Given the description of an element on the screen output the (x, y) to click on. 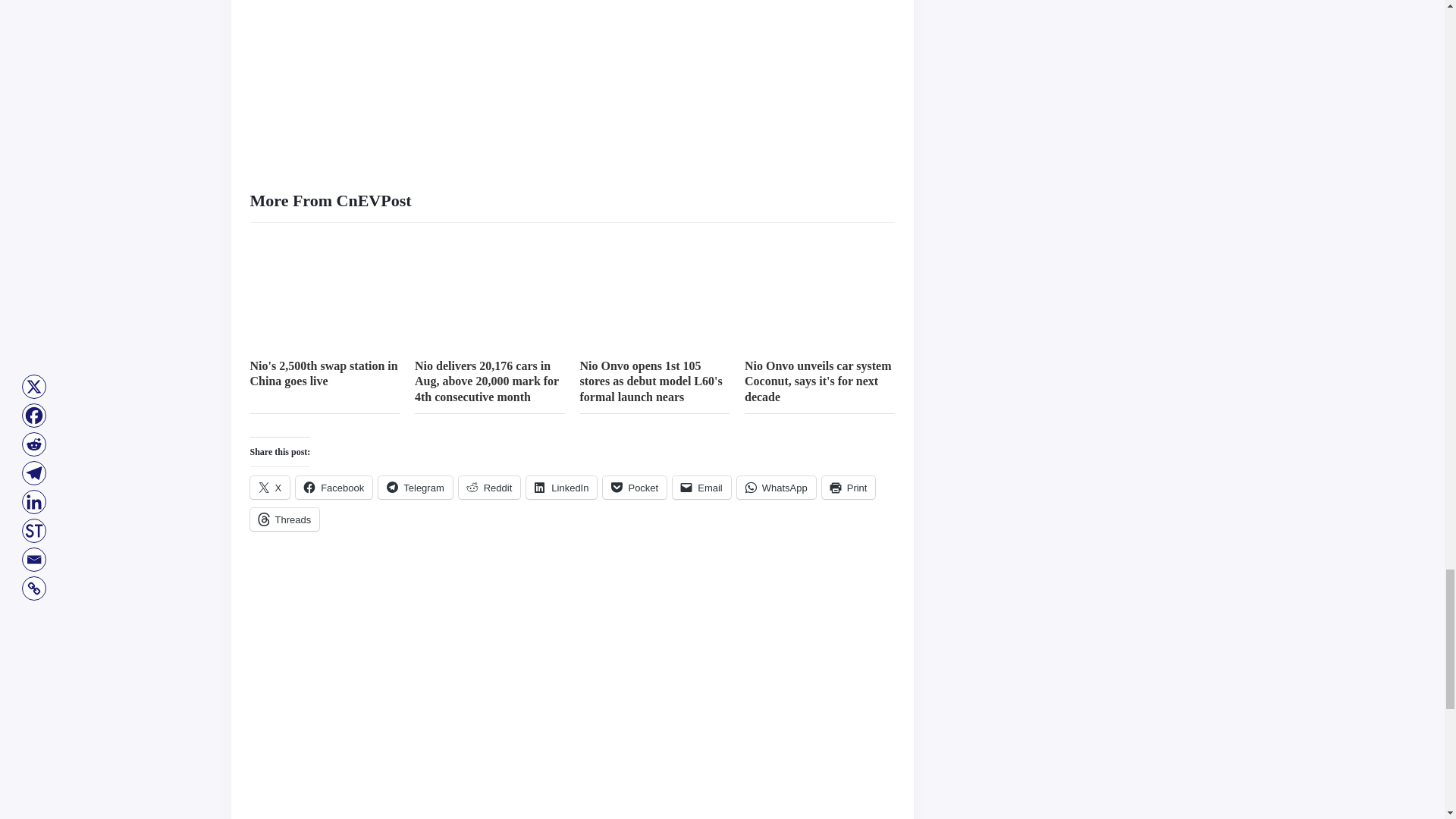
Click to share on LinkedIn (560, 486)
Click to print (849, 486)
Click to share on Pocket (634, 486)
Click to share on WhatsApp (775, 486)
Click to share on Threads (285, 518)
Nio's 2,500th swap station in China goes live (323, 373)
Facebook (333, 486)
Click to share on X (269, 486)
